Given the description of an element on the screen output the (x, y) to click on. 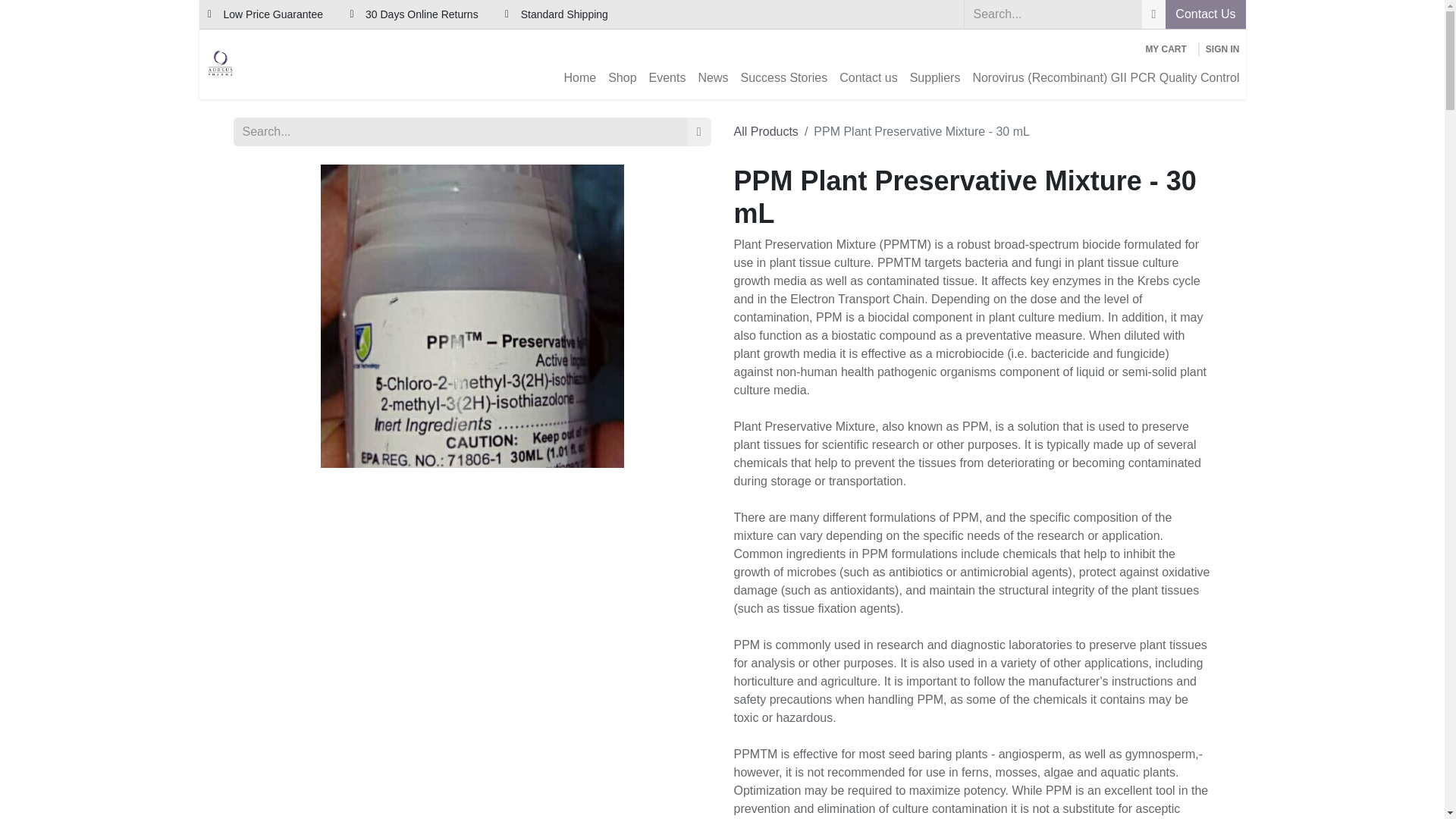
Suppliers (935, 78)
MY CART (1165, 49)
News (712, 78)
Home (579, 78)
Shop (622, 78)
Contact us (867, 78)
Aureus Pharma (220, 64)
Events (668, 78)
Contact Us (1205, 14)
